Given the description of an element on the screen output the (x, y) to click on. 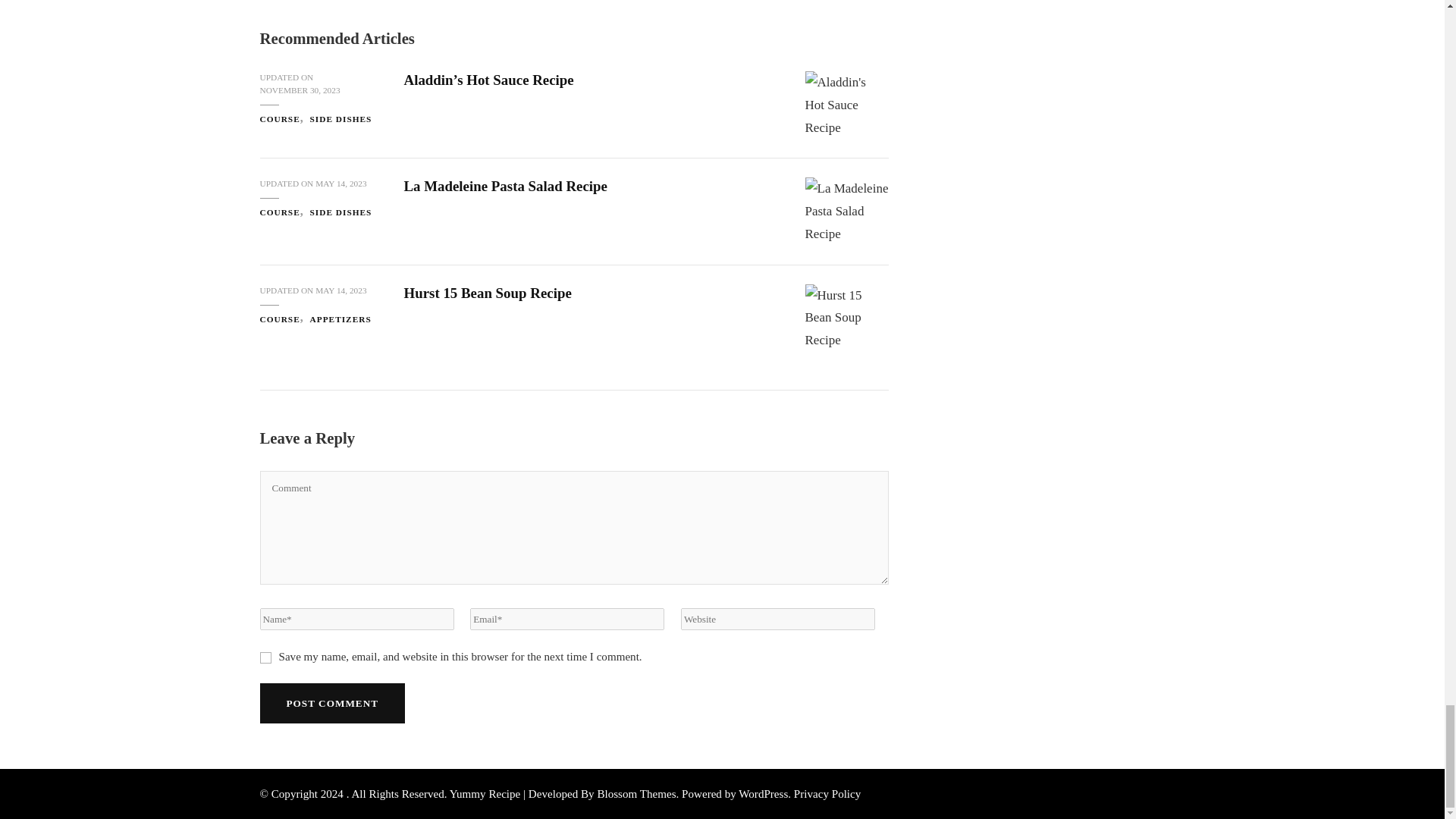
Post Comment (331, 703)
